Given the description of an element on the screen output the (x, y) to click on. 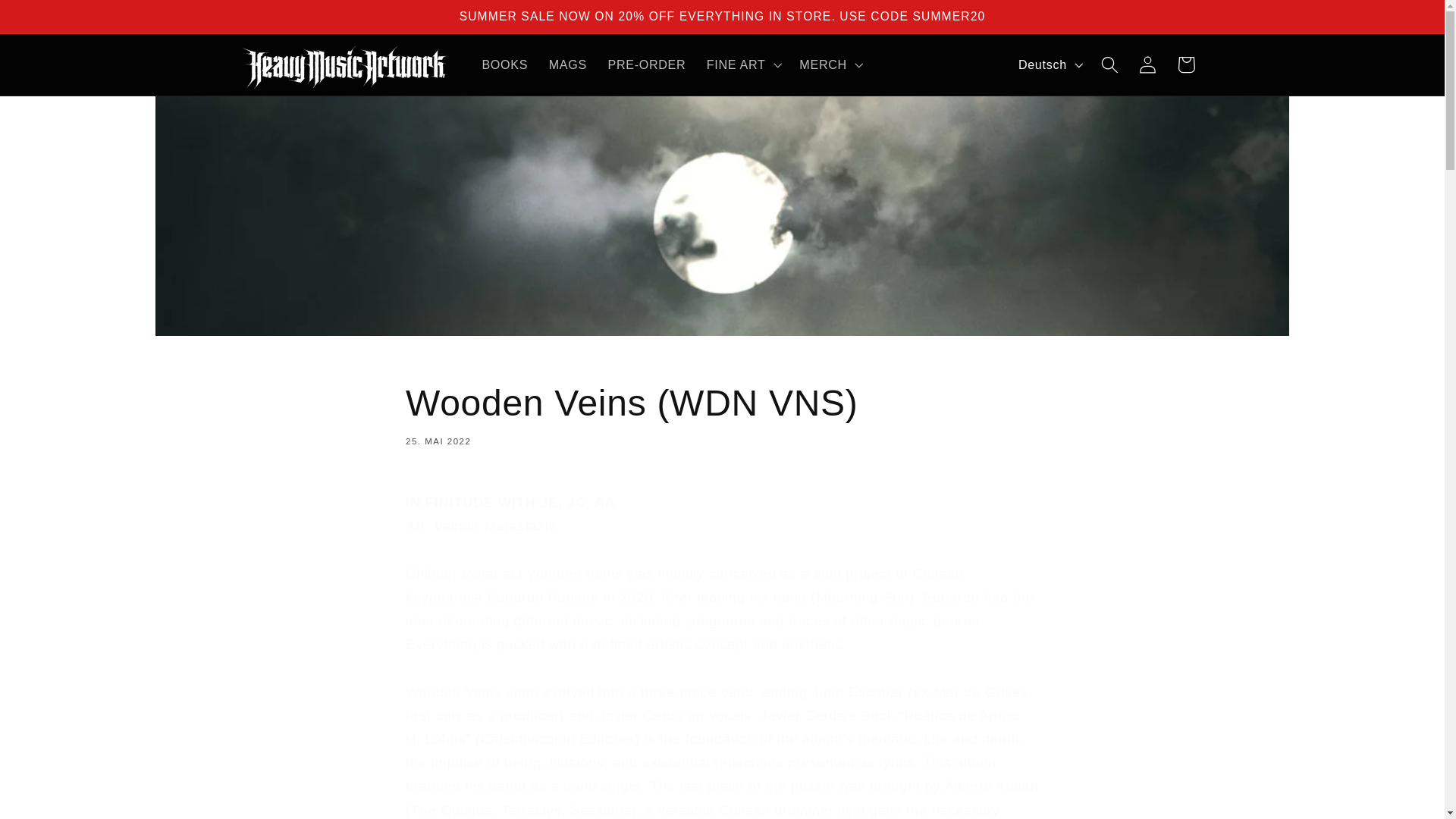
MAGS (567, 63)
Direkt zum Inhalt (52, 20)
Deutsch (1048, 64)
Einloggen (1147, 64)
Warenkorb (1186, 64)
BOOKS (504, 63)
PRE-ORDER (645, 63)
